Given the description of an element on the screen output the (x, y) to click on. 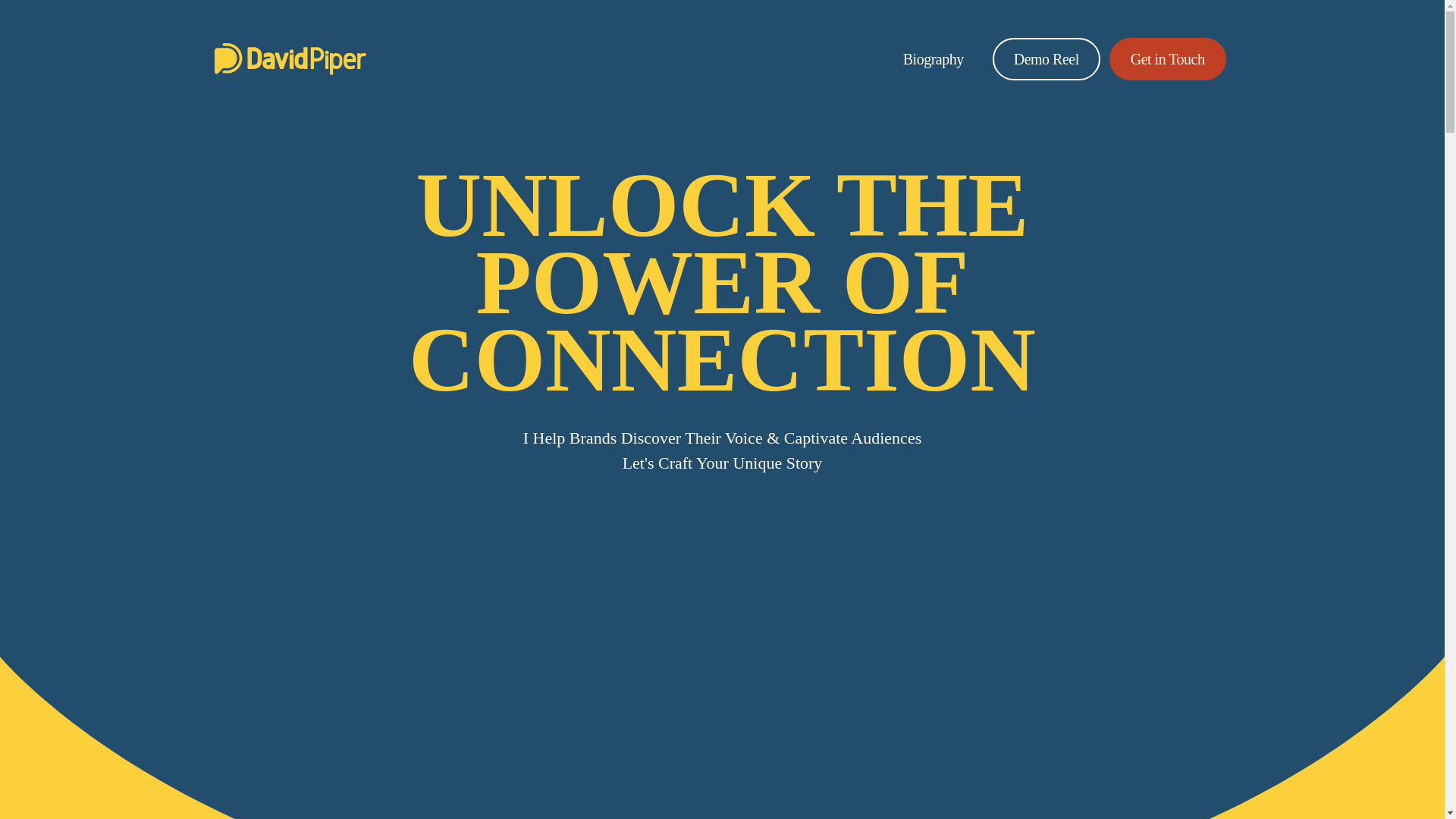
Demo Reel (1046, 58)
Get in Touch (1167, 58)
Biography (933, 58)
